Given the description of an element on the screen output the (x, y) to click on. 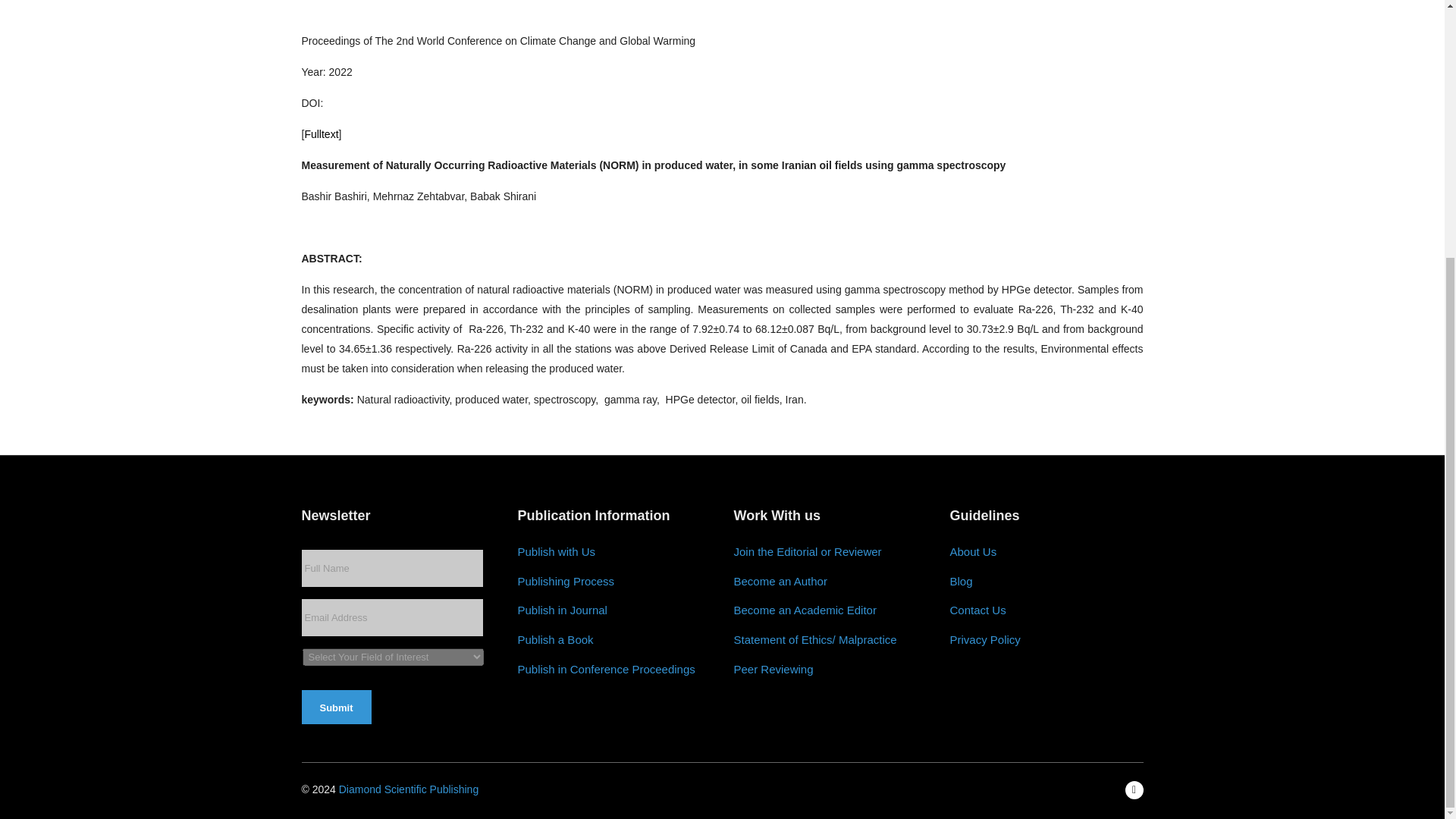
About Us (972, 552)
Publish with Us (555, 552)
Publish a Book (554, 640)
Blog (960, 581)
Contact Us (977, 610)
Publish in Conference Proceedings (605, 669)
Fulltext (320, 133)
Submit (336, 706)
Peer Reviewing (773, 669)
Submit (336, 706)
Diamond Scientific Publishing (409, 788)
Join the Editorial or Reviewer (807, 552)
Publish in Journal (561, 610)
Become an Author (780, 581)
Privacy Policy (984, 640)
